Given the description of an element on the screen output the (x, y) to click on. 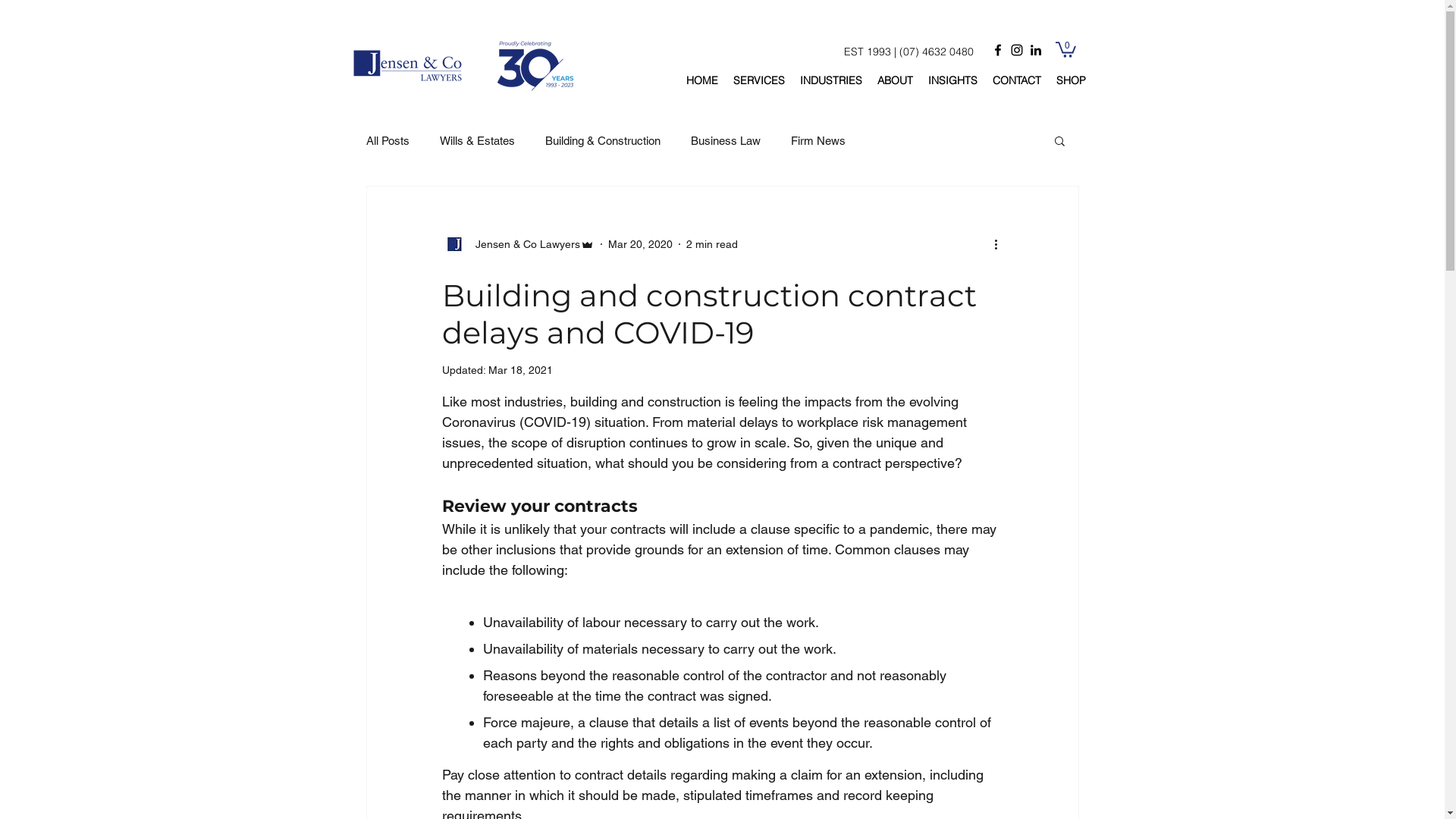
CONTACT Element type: text (1016, 80)
HOME Element type: text (700, 80)
SHOP Element type: text (1070, 80)
ABOUT Element type: text (894, 80)
Firm News Element type: text (817, 139)
Jensen & Co Lawyers Element type: text (517, 244)
INDUSTRIES Element type: text (830, 80)
Building & Construction Element type: text (601, 139)
All Posts Element type: text (386, 139)
INSIGHTS Element type: text (952, 80)
0 Element type: text (1065, 48)
Business Law Element type: text (724, 139)
EST 1993 | (07) 4632 0480 Element type: text (892, 52)
Wills & Estates Element type: text (476, 139)
